Given the description of an element on the screen output the (x, y) to click on. 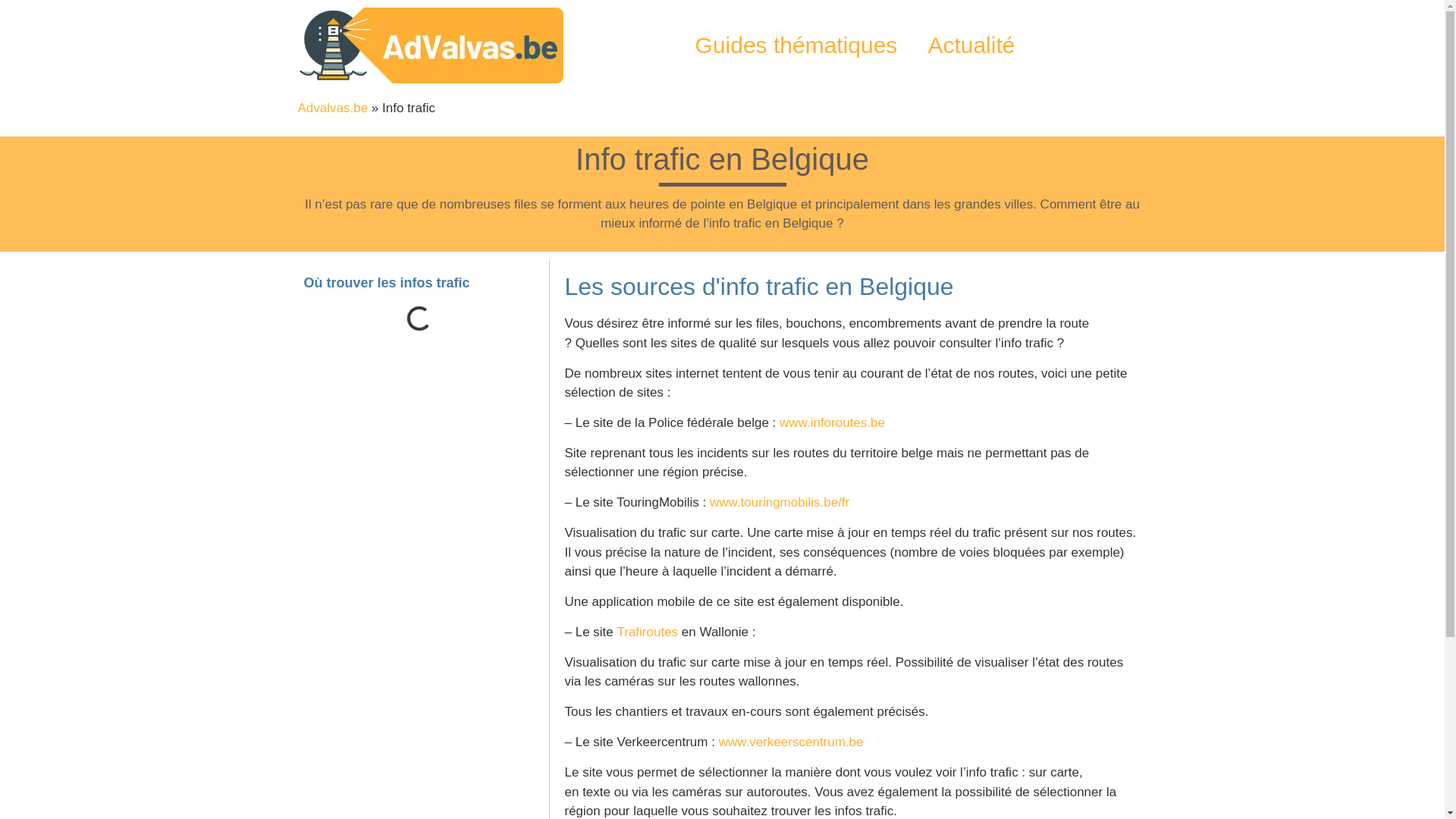
www.touringmobilis.be/fr Element type: text (779, 502)
www.inforoutes.be Element type: text (831, 422)
Trafiroutes Element type: text (647, 631)
Advalvas.be Element type: text (332, 107)
www.verkeerscentrum.be Element type: text (790, 741)
